Given the description of an element on the screen output the (x, y) to click on. 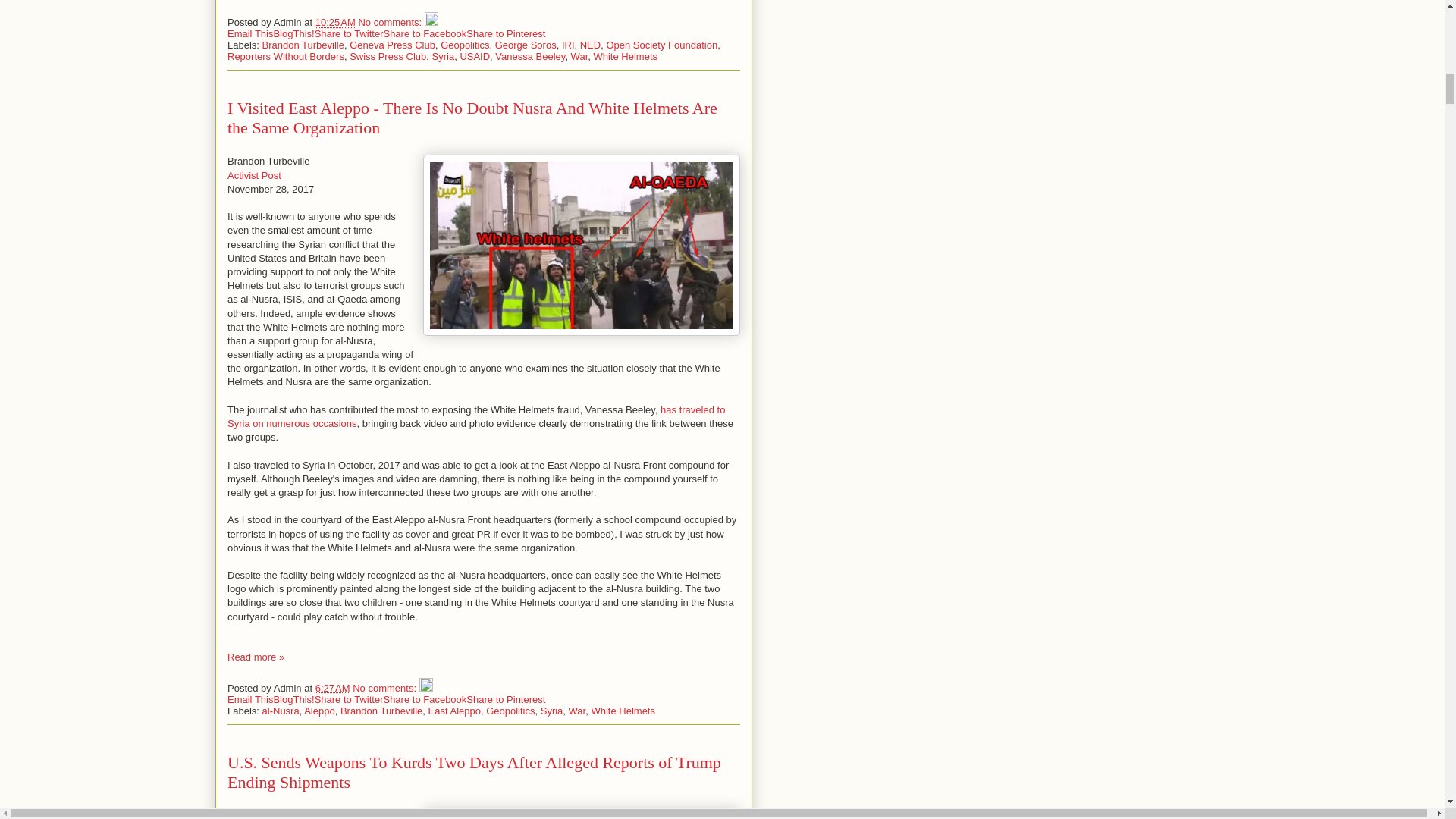
permanent link (335, 21)
Edit Post (431, 21)
Share to Twitter (349, 33)
Share to Facebook (423, 33)
BlogThis! (293, 33)
Email This (250, 33)
